Given the description of an element on the screen output the (x, y) to click on. 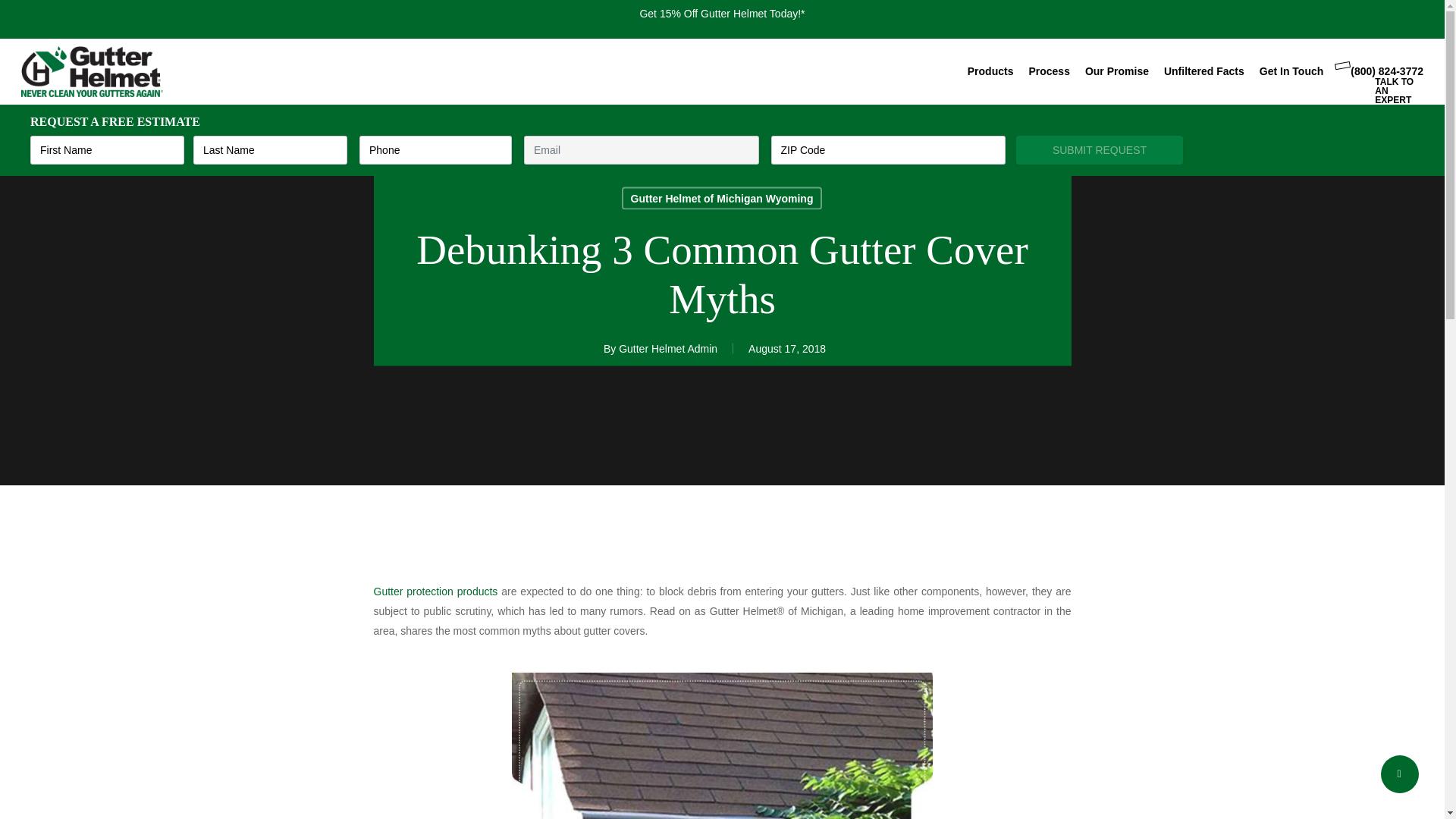
Gutter protection products (434, 591)
SUBMIT REQUEST (1099, 149)
Gutter Helmet Admin (667, 348)
Posts by Gutter Helmet Admin (667, 348)
Process (1047, 70)
Our Promise (1116, 70)
Get In Touch (1291, 70)
Products (990, 70)
SUBMIT REQUEST (1099, 149)
Unfiltered Facts (1203, 70)
